Given the description of an element on the screen output the (x, y) to click on. 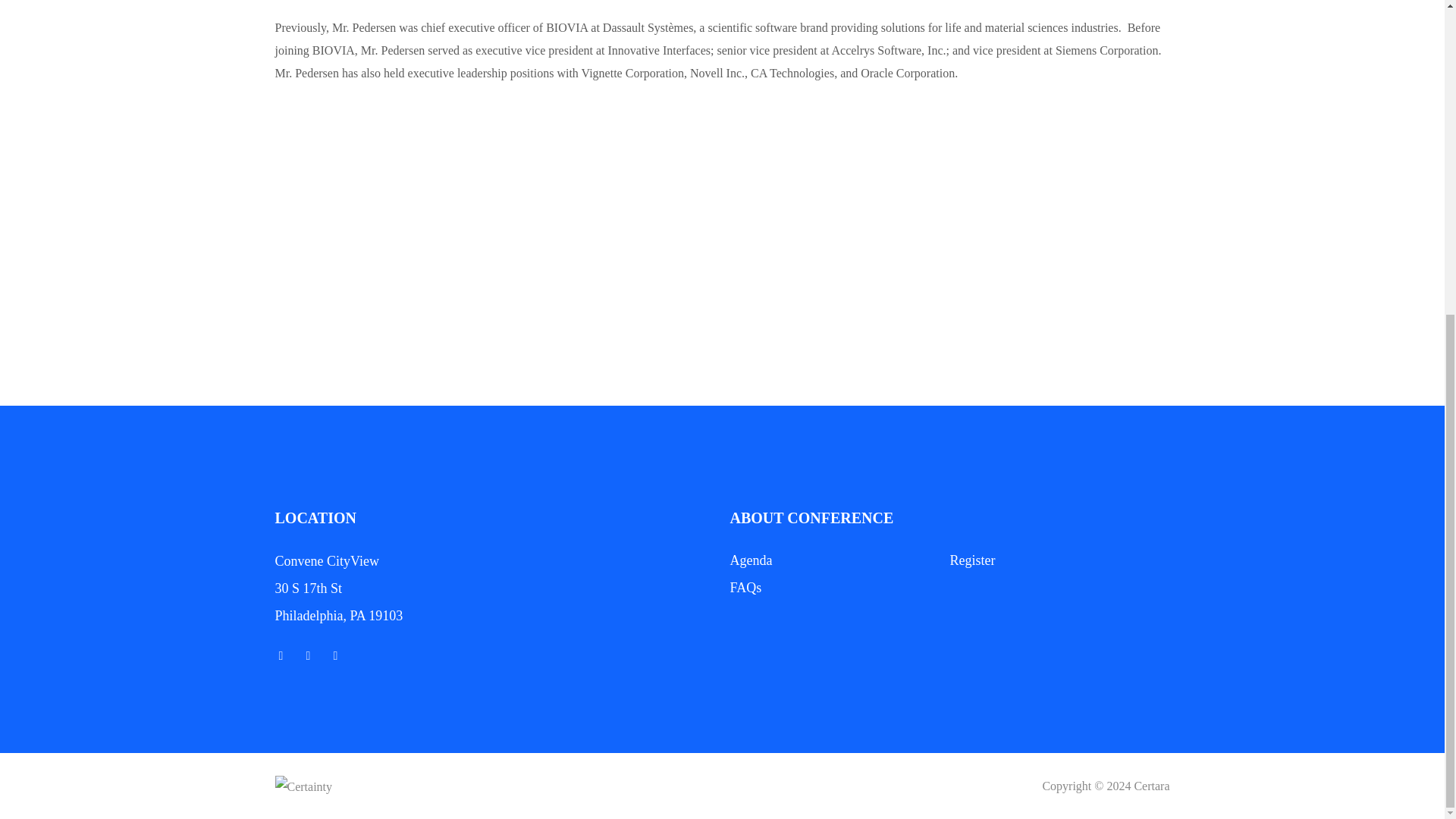
Register (971, 560)
Twitter (280, 655)
LinkedIn (334, 655)
Agenda (750, 560)
FAQs (745, 587)
Facebook (307, 655)
